Given the description of an element on the screen output the (x, y) to click on. 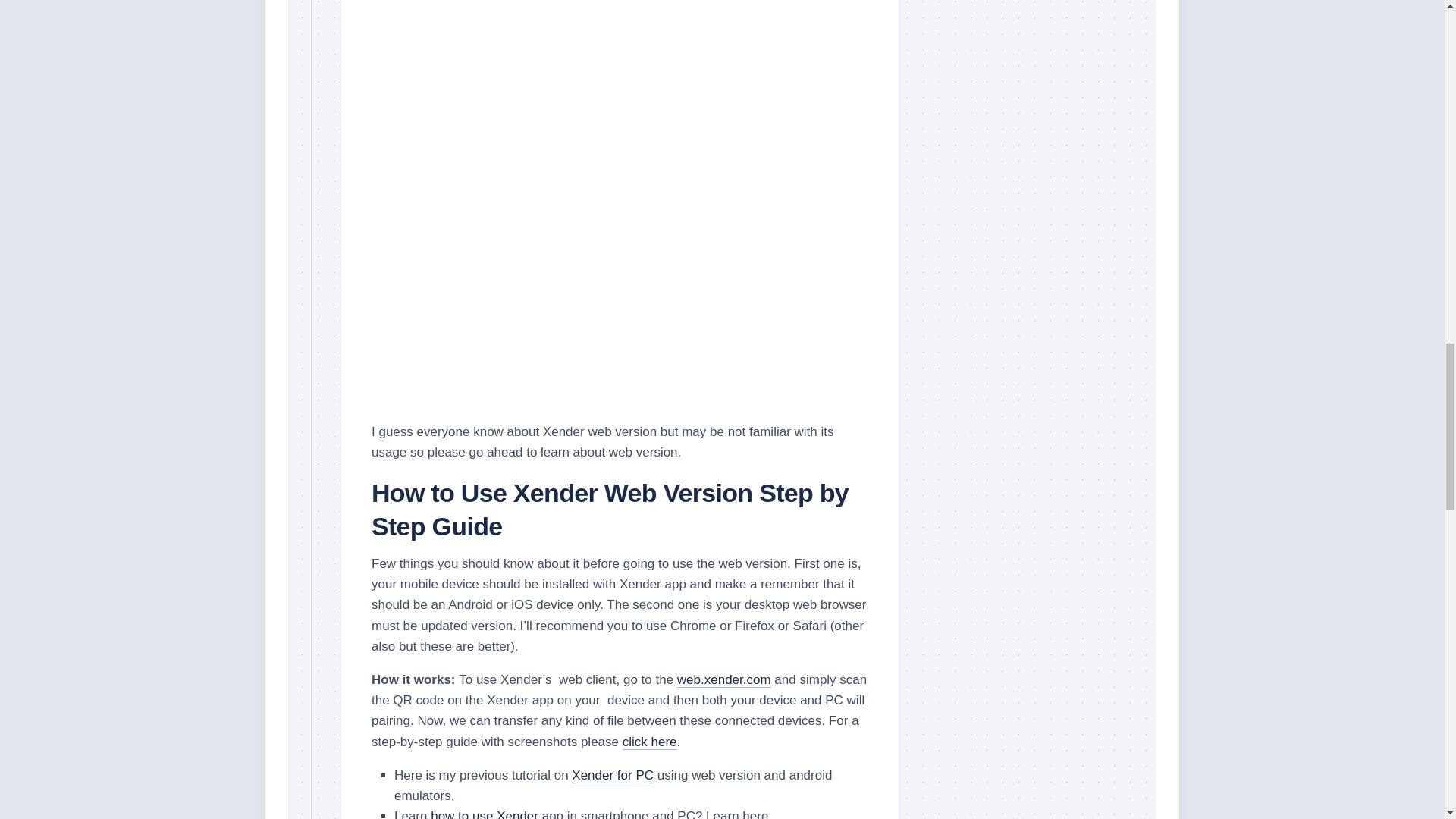
Xender for PC (612, 775)
how to use Xender (484, 814)
click here (650, 741)
web.xender.com (724, 679)
